Given the description of an element on the screen output the (x, y) to click on. 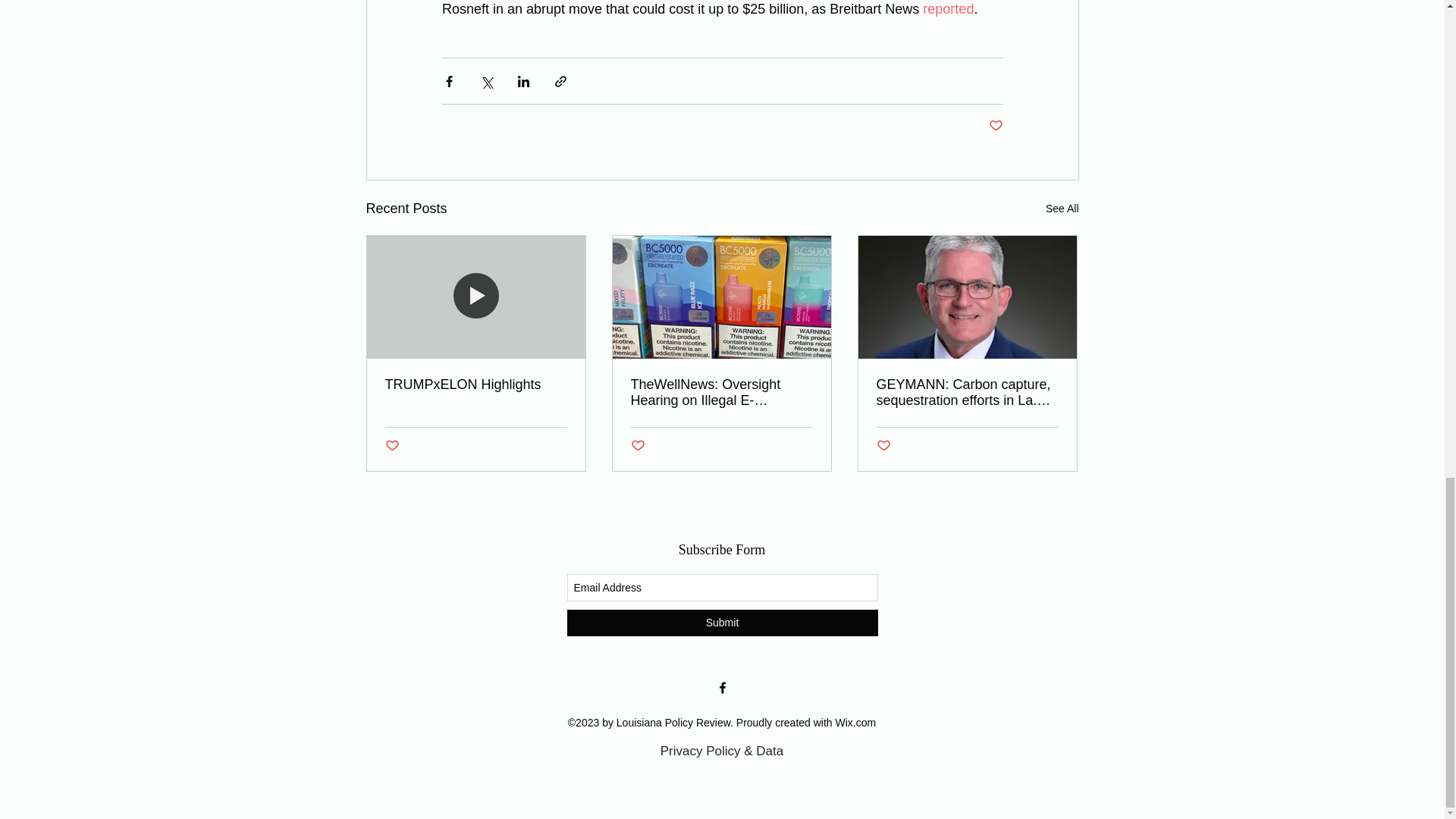
TRUMPxELON Highlights (476, 384)
Post not marked as liked (391, 446)
See All (1061, 209)
Post not marked as liked (637, 446)
Submit (722, 622)
reported (948, 8)
Post not marked as liked (995, 125)
Post not marked as liked (883, 446)
